Given the description of an element on the screen output the (x, y) to click on. 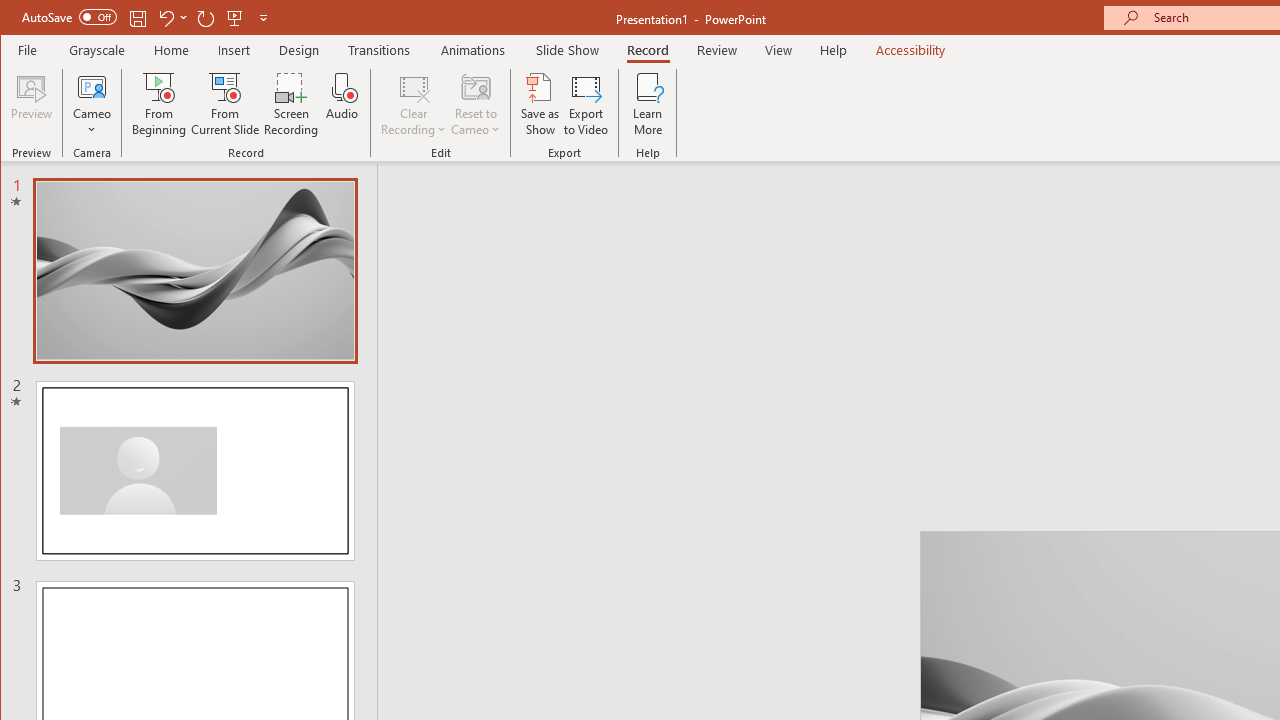
From Beginning... (159, 104)
Screen Recording (291, 104)
